Given the description of an element on the screen output the (x, y) to click on. 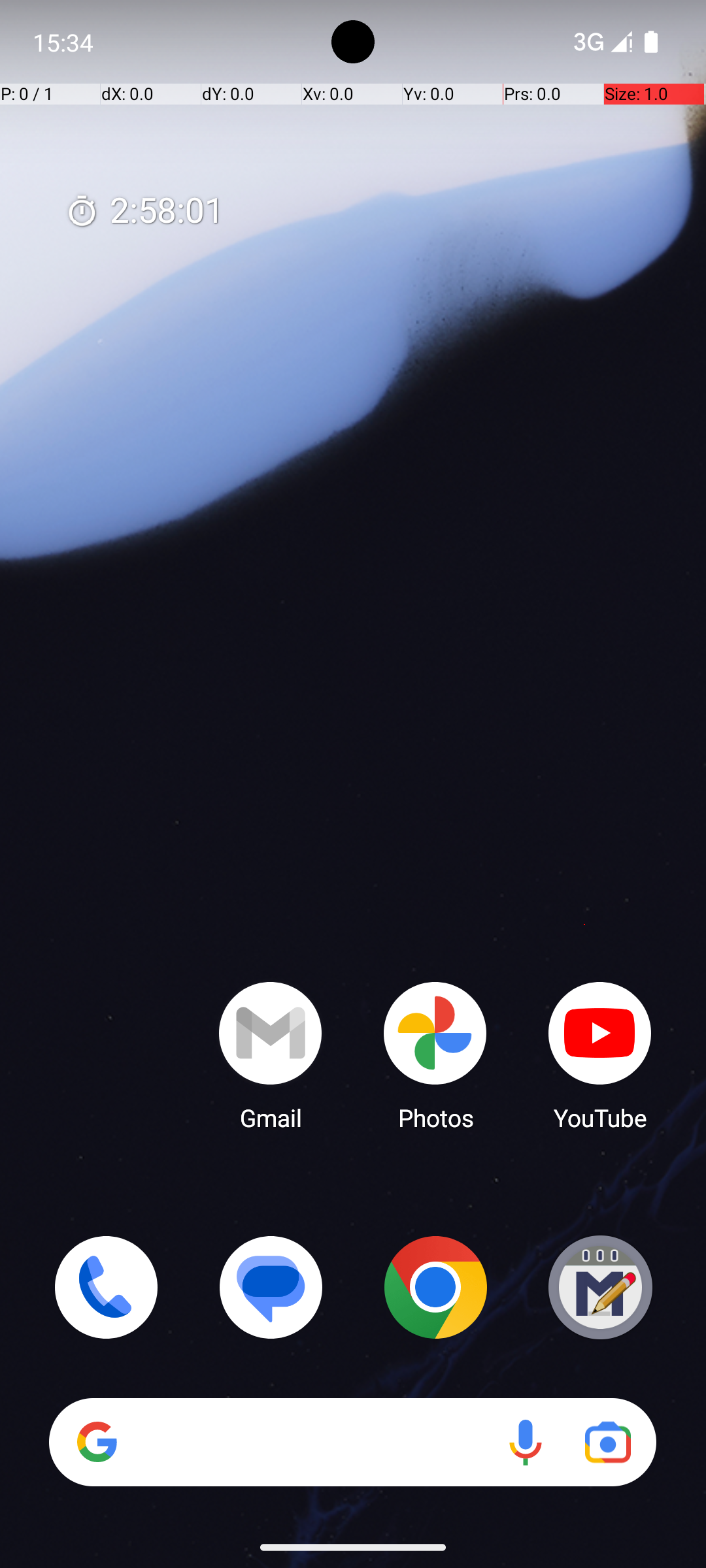
2:58:01 Element type: android.widget.TextView (144, 210)
